Given the description of an element on the screen output the (x, y) to click on. 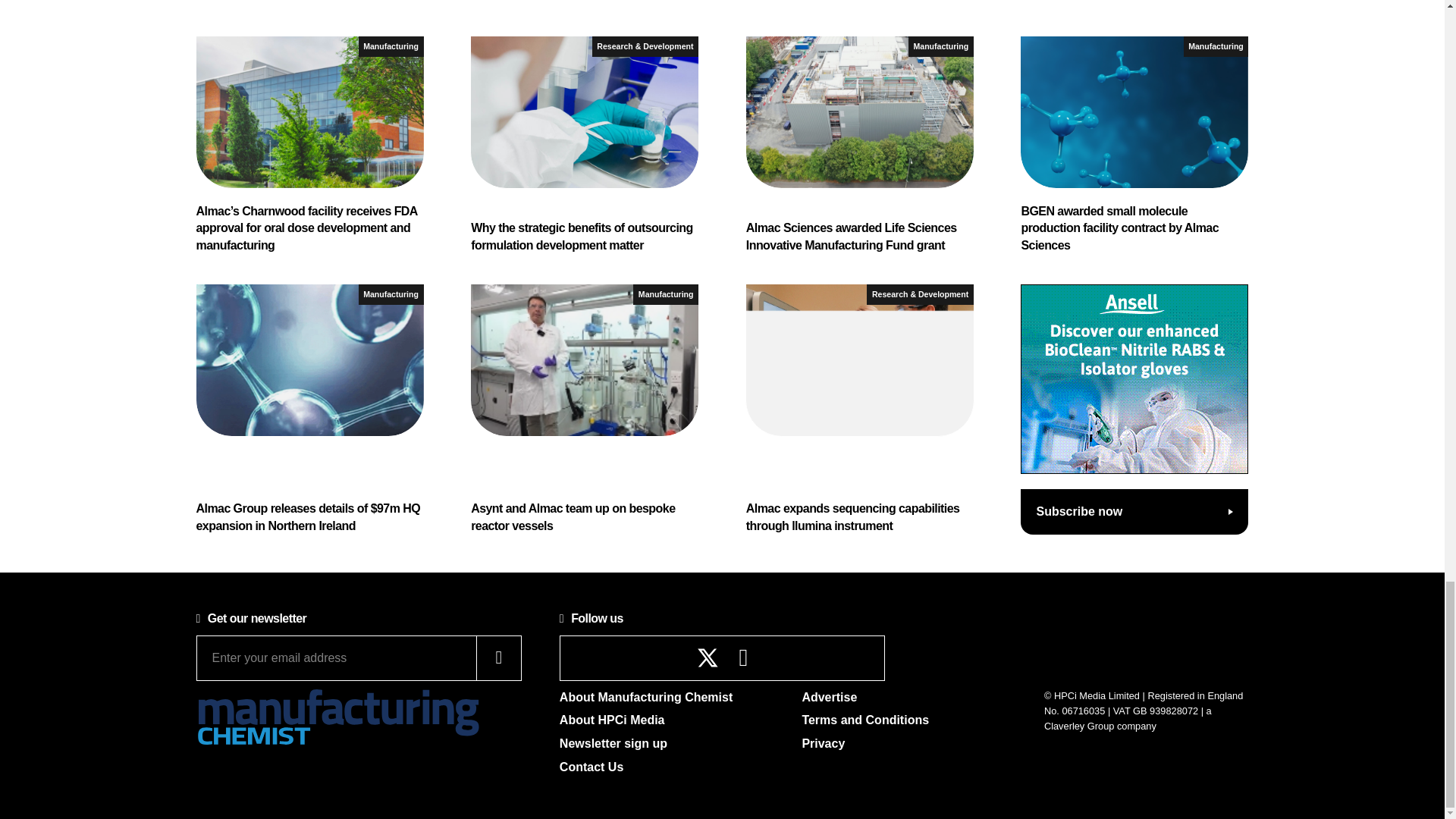
Follow Manufacturing Chemist on X (708, 658)
